Given the description of an element on the screen output the (x, y) to click on. 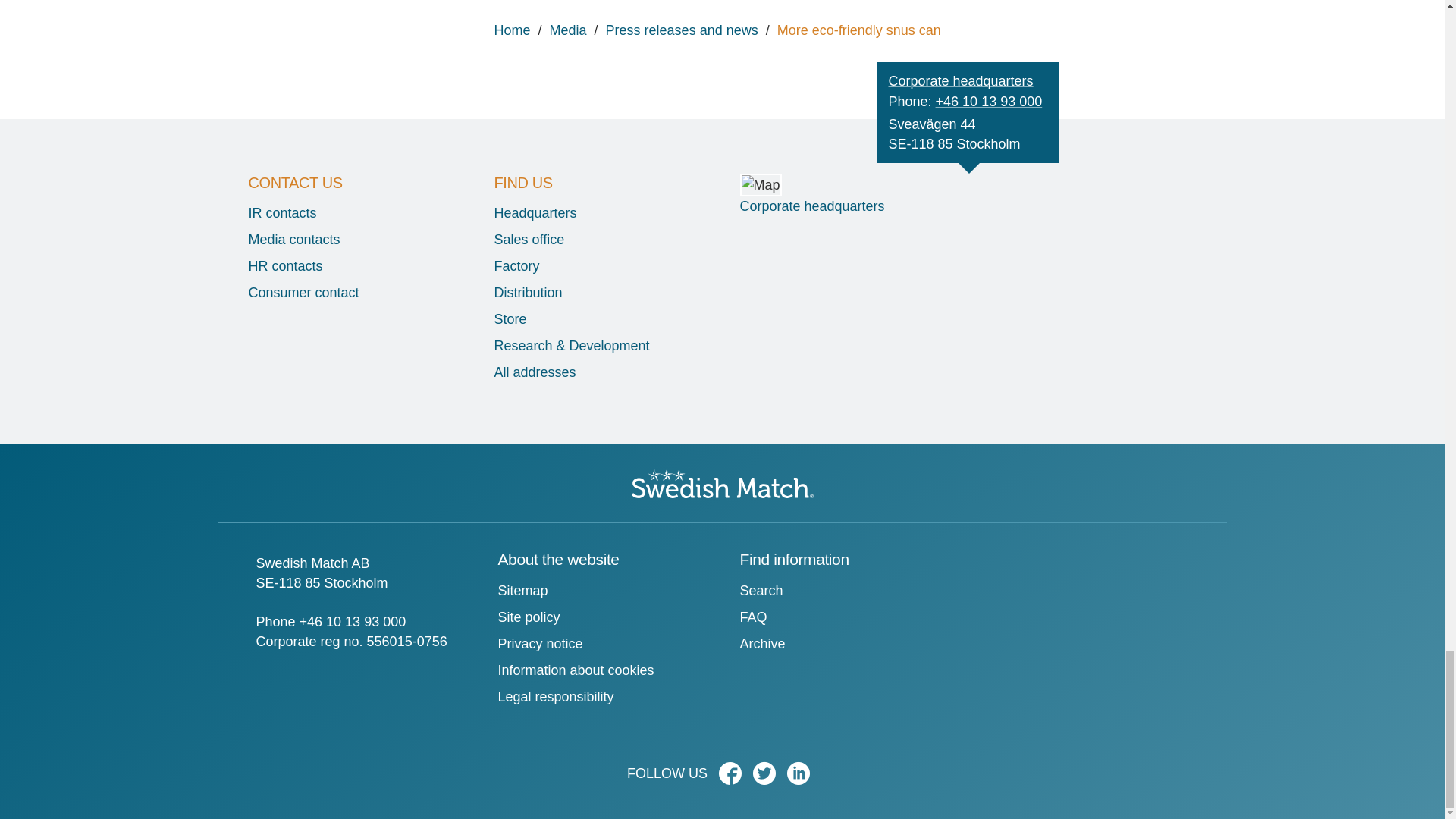
facebook (734, 778)
LinkedIn (801, 778)
Twitter (767, 778)
